Given the description of an element on the screen output the (x, y) to click on. 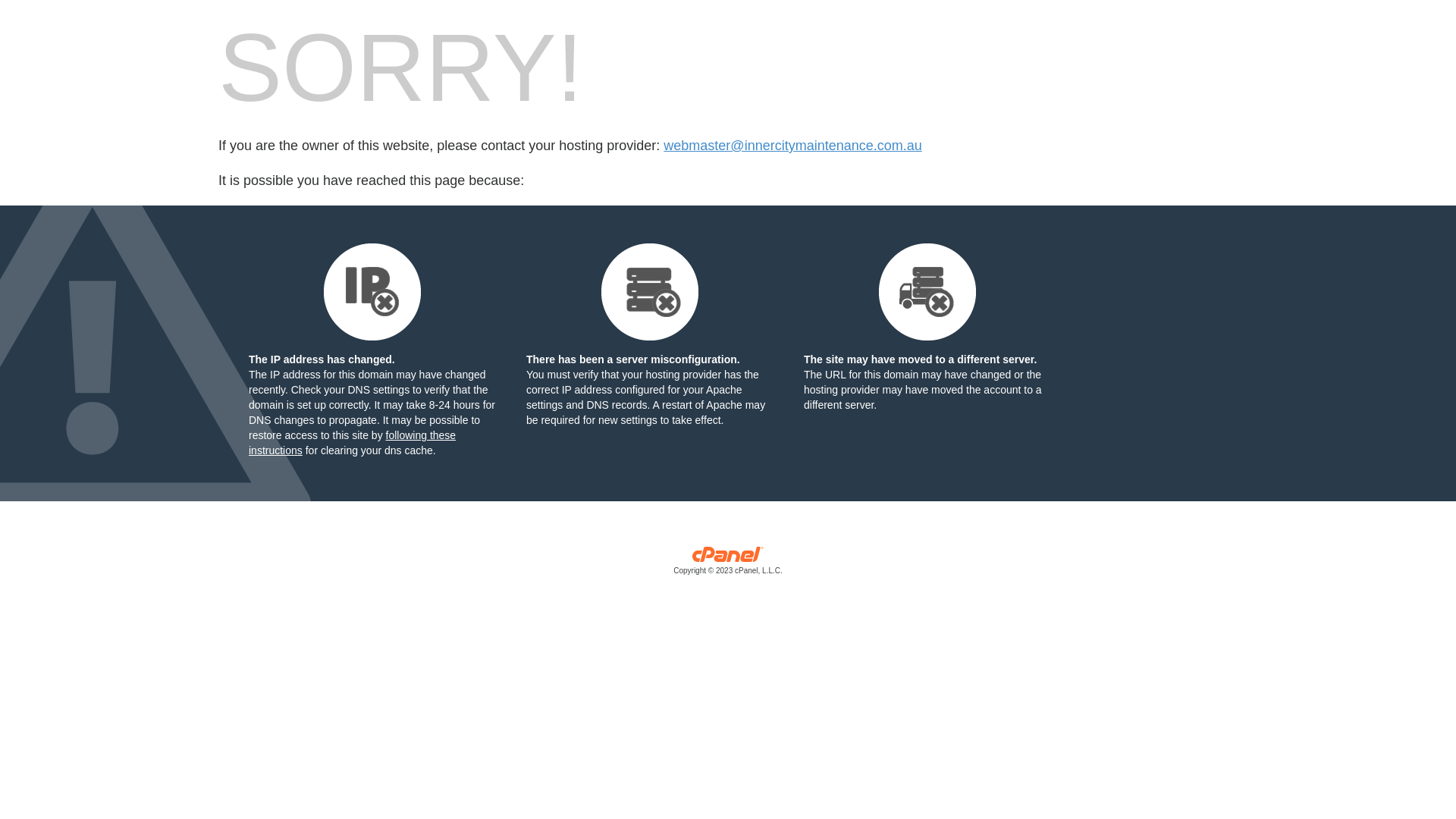
webmaster@innercitymaintenance.com.au Element type: text (792, 145)
following these instructions Element type: text (351, 442)
